Given the description of an element on the screen output the (x, y) to click on. 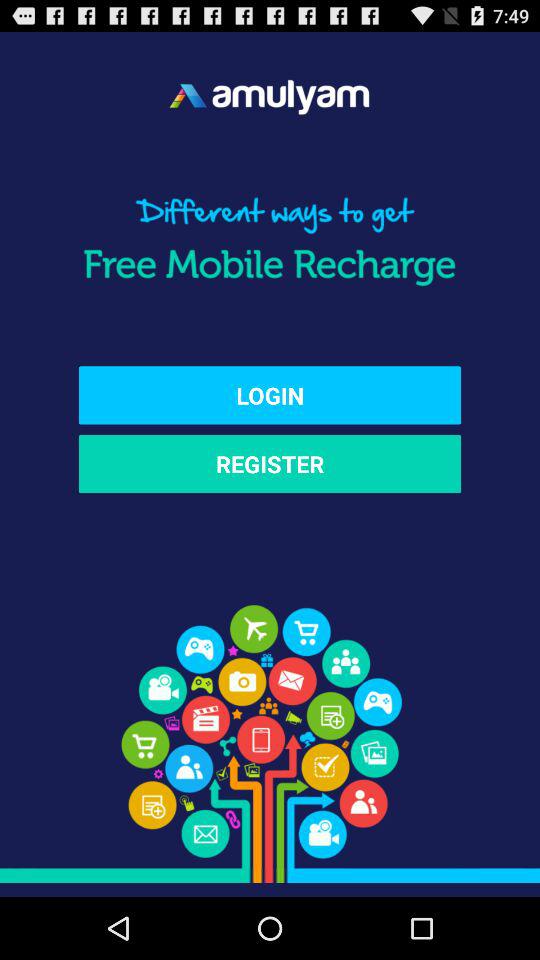
tap the register (269, 464)
